Given the description of an element on the screen output the (x, y) to click on. 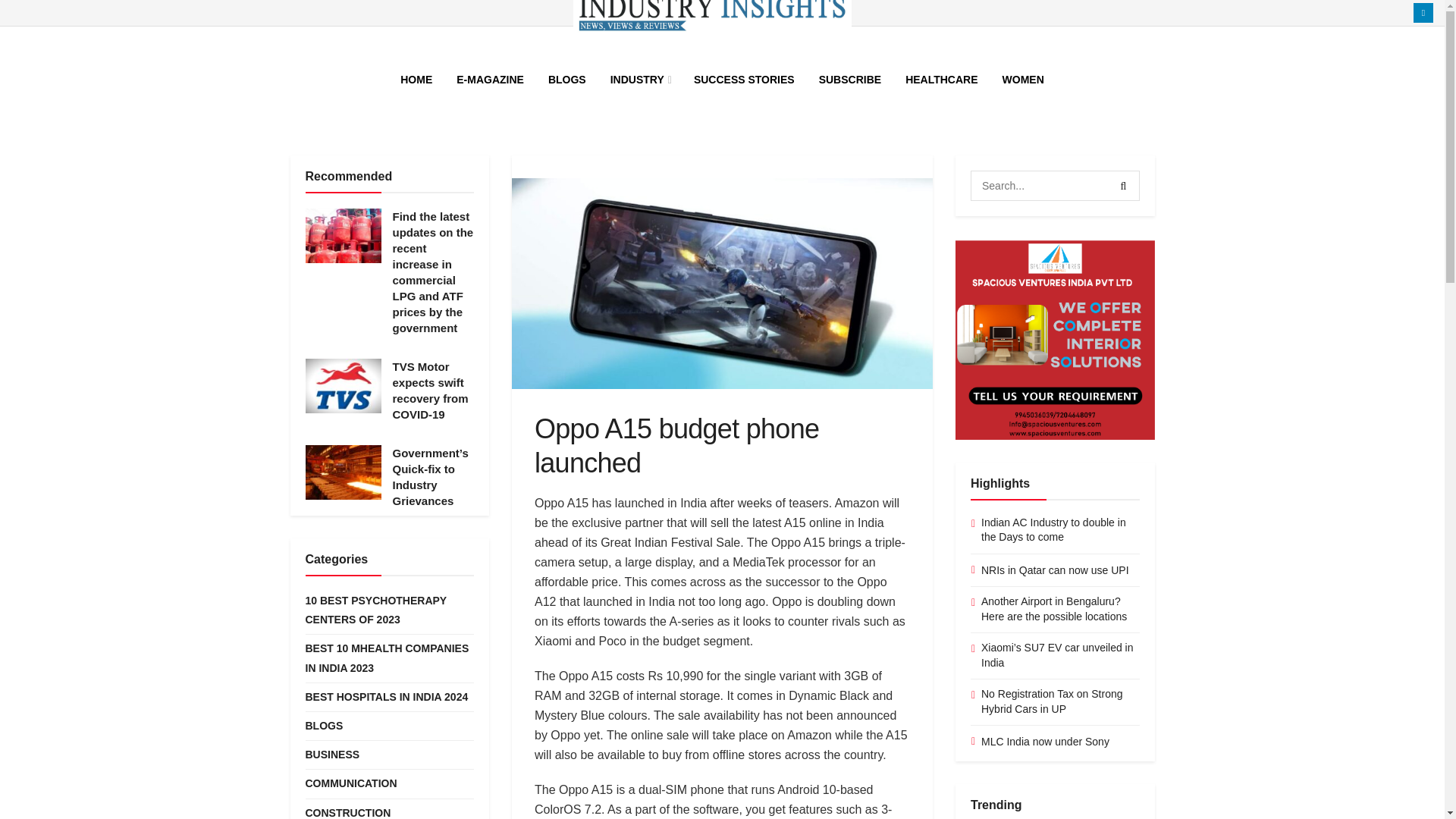
HEALTHCARE (941, 79)
WOMEN (1023, 79)
HOME (416, 79)
SUCCESS STORIES (743, 79)
BLOGS (566, 79)
E-MAGAZINE (489, 79)
SUBSCRIBE (849, 79)
INDUSTRY (639, 79)
